Given the description of an element on the screen output the (x, y) to click on. 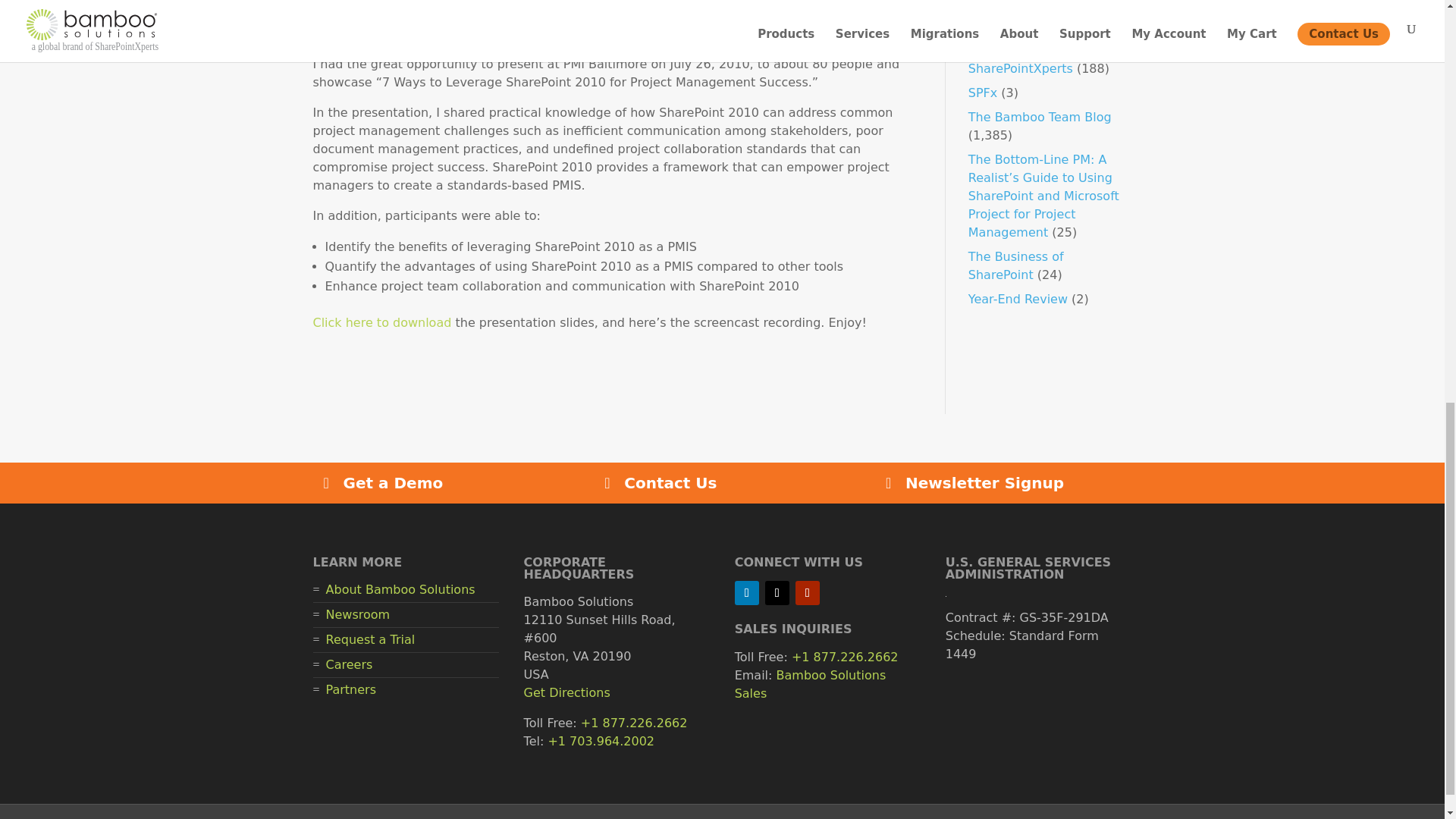
Follow on Youtube (806, 592)
Follow on LinkedIn (746, 592)
Follow on Twitter (777, 592)
